Given the description of an element on the screen output the (x, y) to click on. 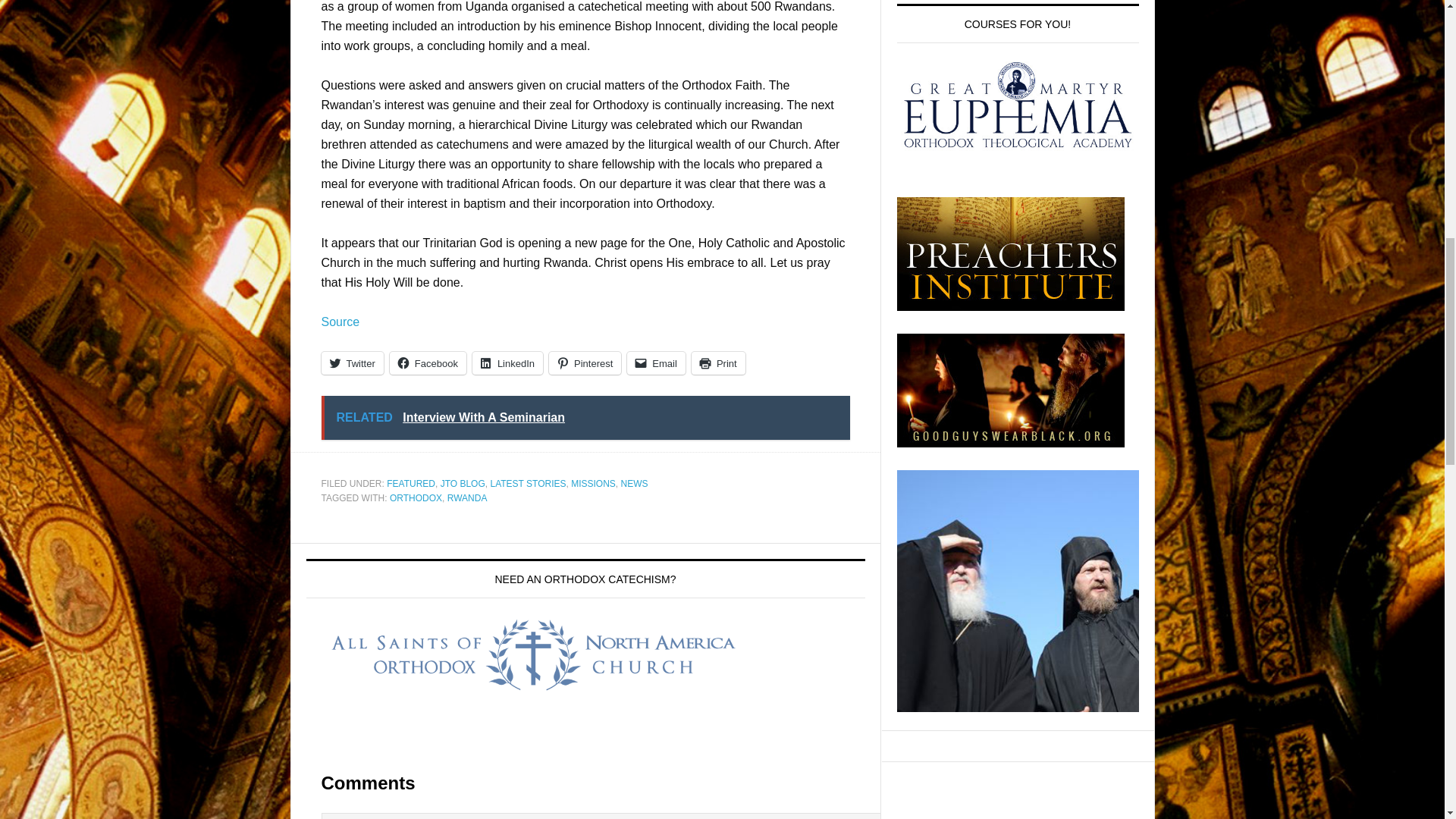
Click to email a link to a friend (656, 363)
Need an Orthodox Catechism? (533, 654)
Click to share on Pinterest (584, 363)
Click to share on Facebook (427, 363)
Click to share on Twitter (352, 363)
Click to share on LinkedIn (507, 363)
Click to print (718, 363)
